Given the description of an element on the screen output the (x, y) to click on. 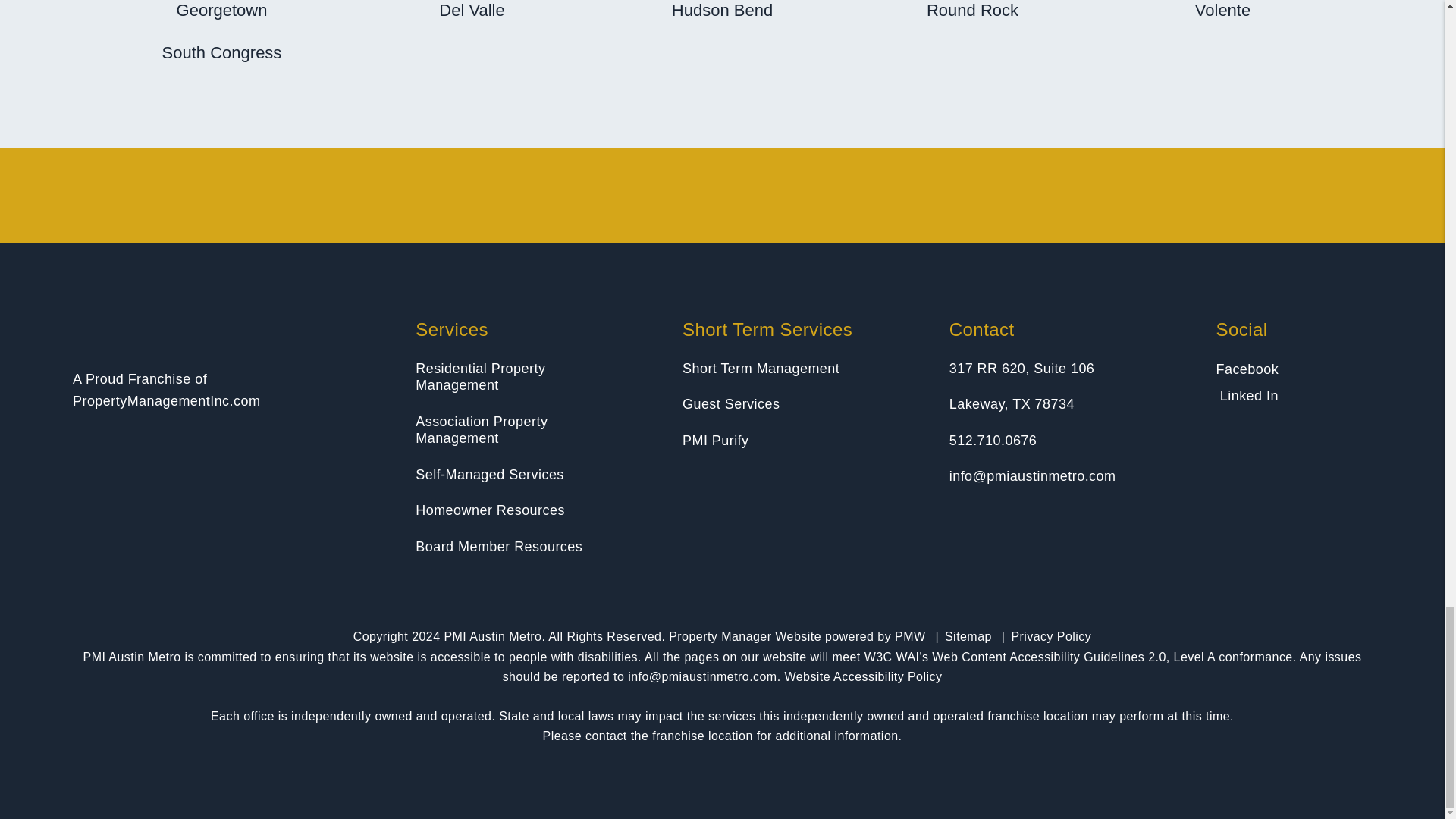
opens in a new window (1247, 368)
opens in a new window (1249, 396)
